Given the description of an element on the screen output the (x, y) to click on. 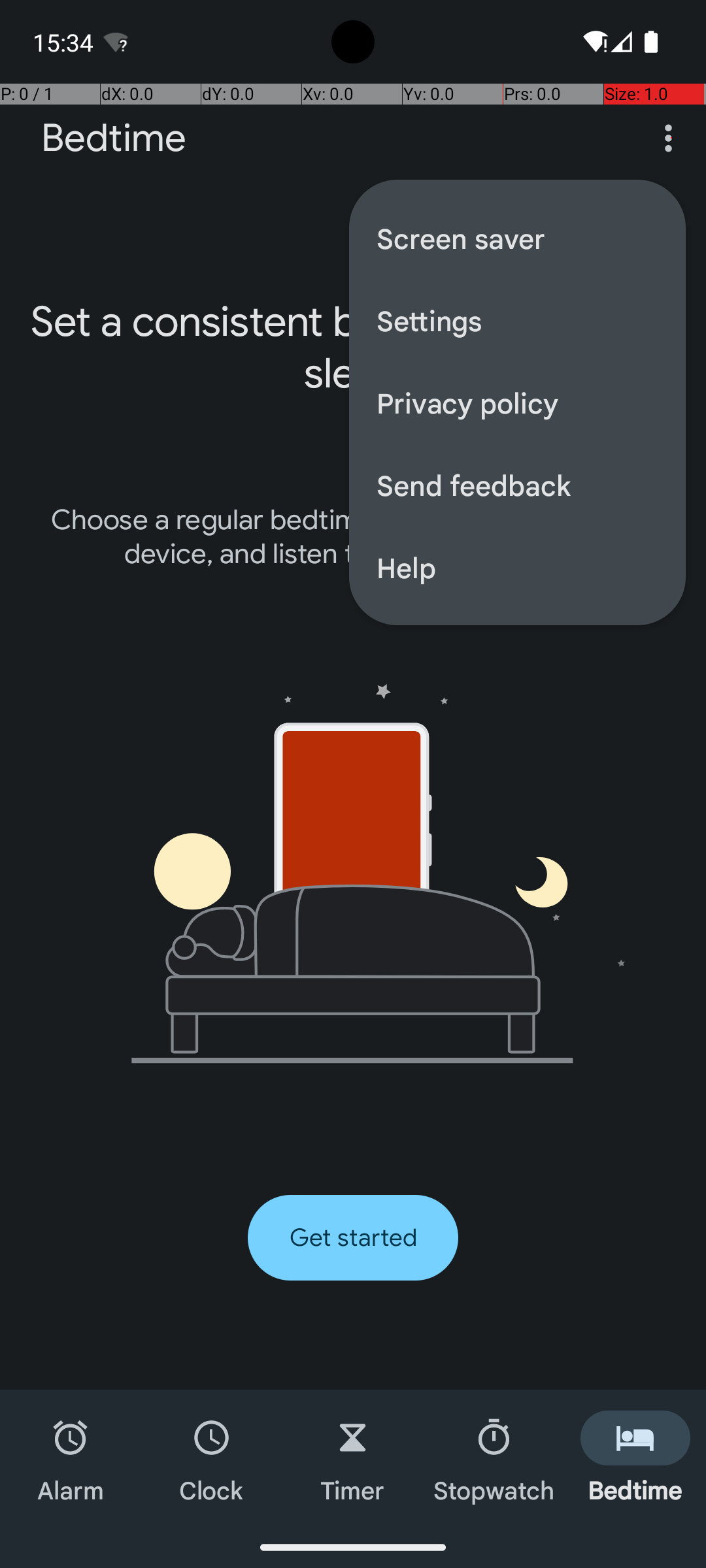
Screen saver Element type: android.widget.TextView (517, 237)
